Given the description of an element on the screen output the (x, y) to click on. 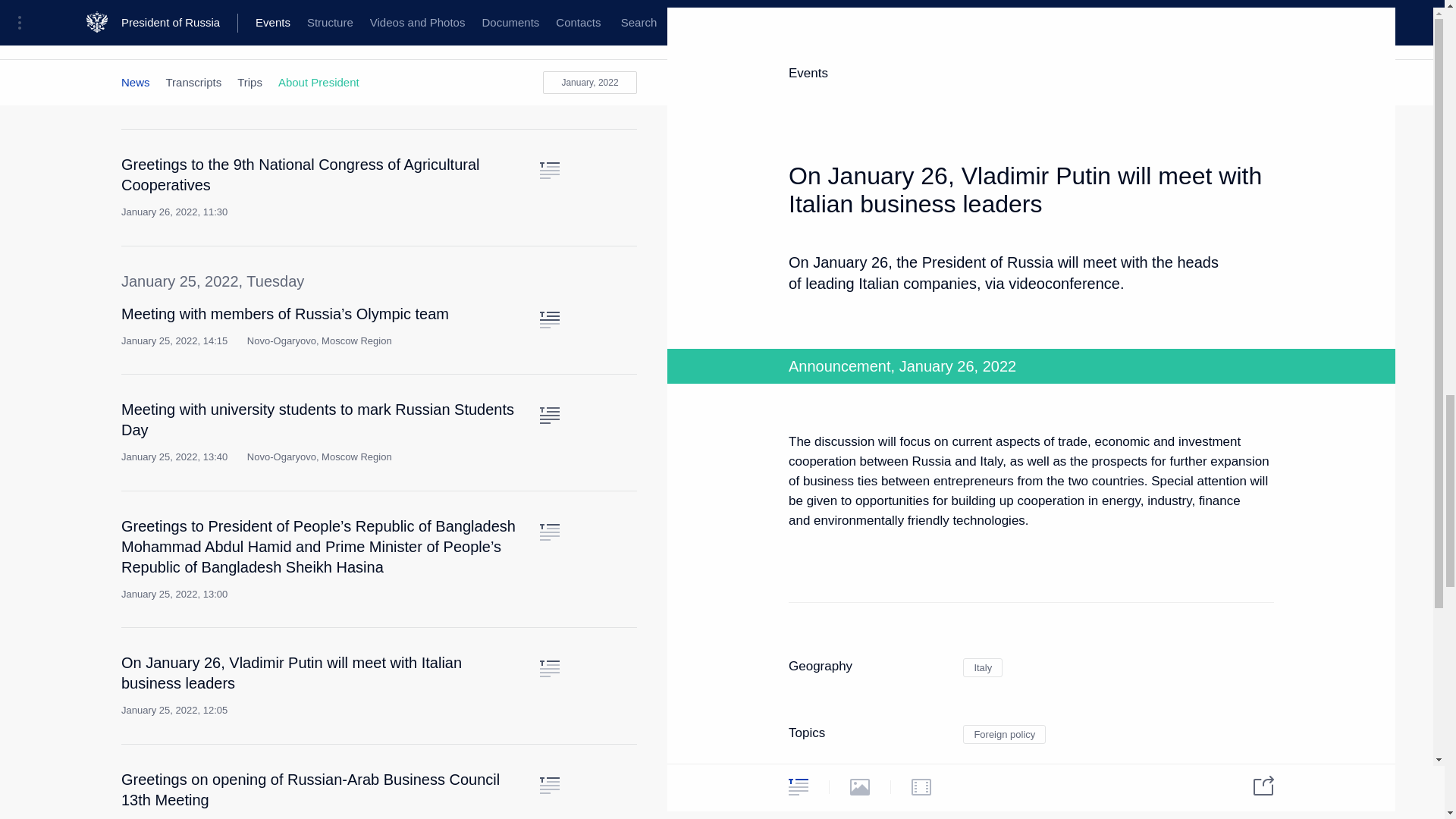
Text of the article (549, 74)
Text of the article (549, 320)
Text of the article (549, 170)
